Given the description of an element on the screen output the (x, y) to click on. 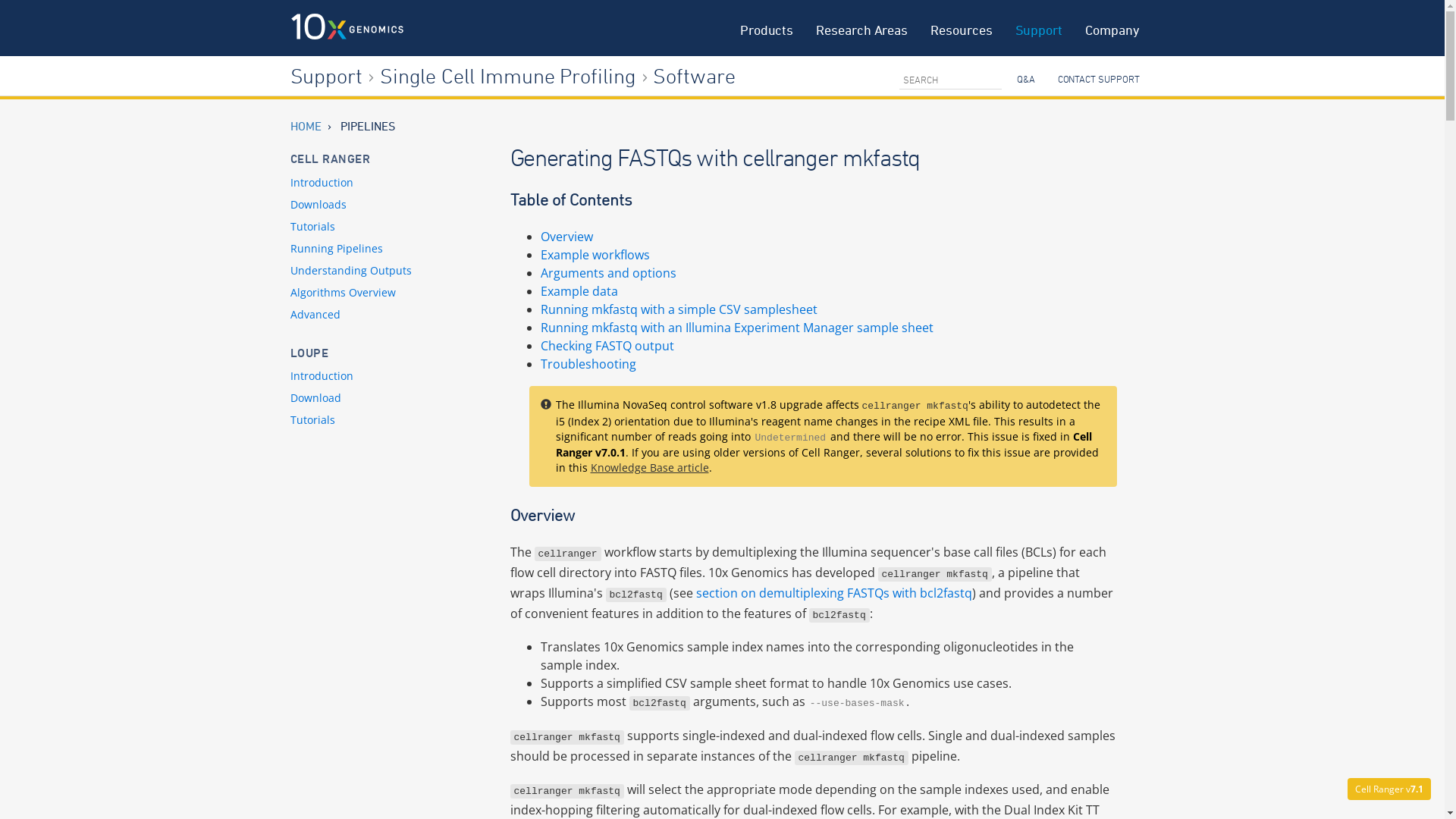
Single Cell Immune Profiling Element type: text (507, 75)
Understanding Outputs Element type: text (350, 270)
Q&A Element type: text (1025, 77)
section on demultiplexing FASTQs with bcl2fastq Element type: text (834, 592)
Example workflows Element type: text (594, 254)
CONTACT SUPPORT Element type: text (1098, 77)
Running Pipelines Element type: text (335, 248)
Algorithms Overview Element type: text (342, 292)
Troubleshooting Element type: text (587, 363)
Tutorials Element type: text (311, 226)
HOME Element type: text (304, 125)
Introduction Element type: text (320, 182)
Checking FASTQ output Element type: text (606, 345)
Download Element type: text (314, 397)
Running mkfastq with a simple CSV samplesheet Element type: text (677, 309)
Advanced Element type: text (314, 314)
Company Element type: text (1111, 27)
Knowledge Base article Element type: text (648, 467)
Overview Element type: text (565, 236)
Support Element type: text (1038, 27)
Support Element type: text (325, 75)
Products Element type: text (766, 27)
Research Areas Element type: text (861, 27)
Tutorials Element type: text (311, 419)
Introduction Element type: text (320, 375)
Example data Element type: text (578, 290)
Downloads Element type: text (317, 204)
Software Element type: text (693, 75)
Arguments and options Element type: text (607, 272)
Resources Element type: text (960, 27)
